Given the description of an element on the screen output the (x, y) to click on. 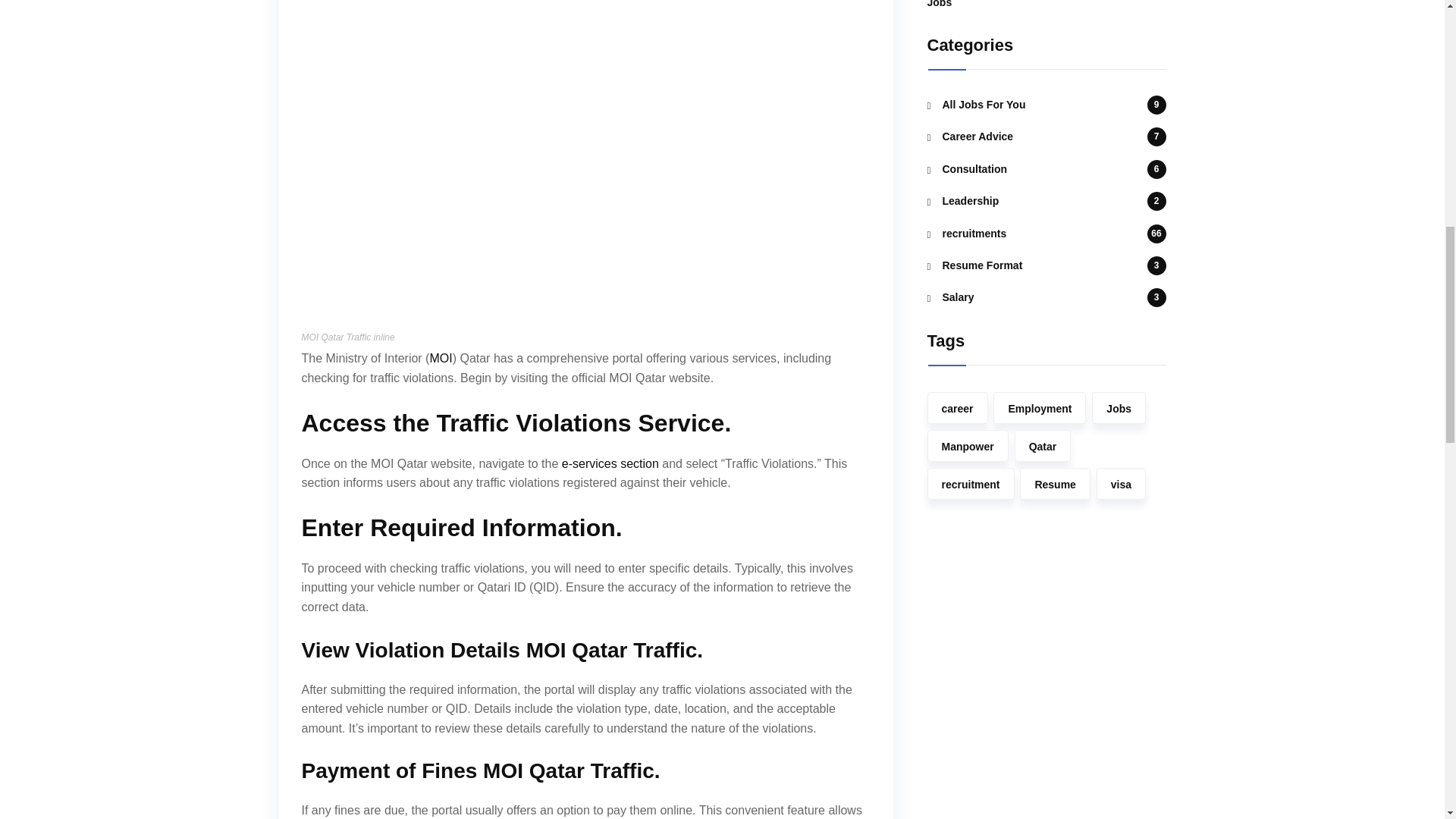
e-services section (610, 463)
MOI (440, 358)
